Given the description of an element on the screen output the (x, y) to click on. 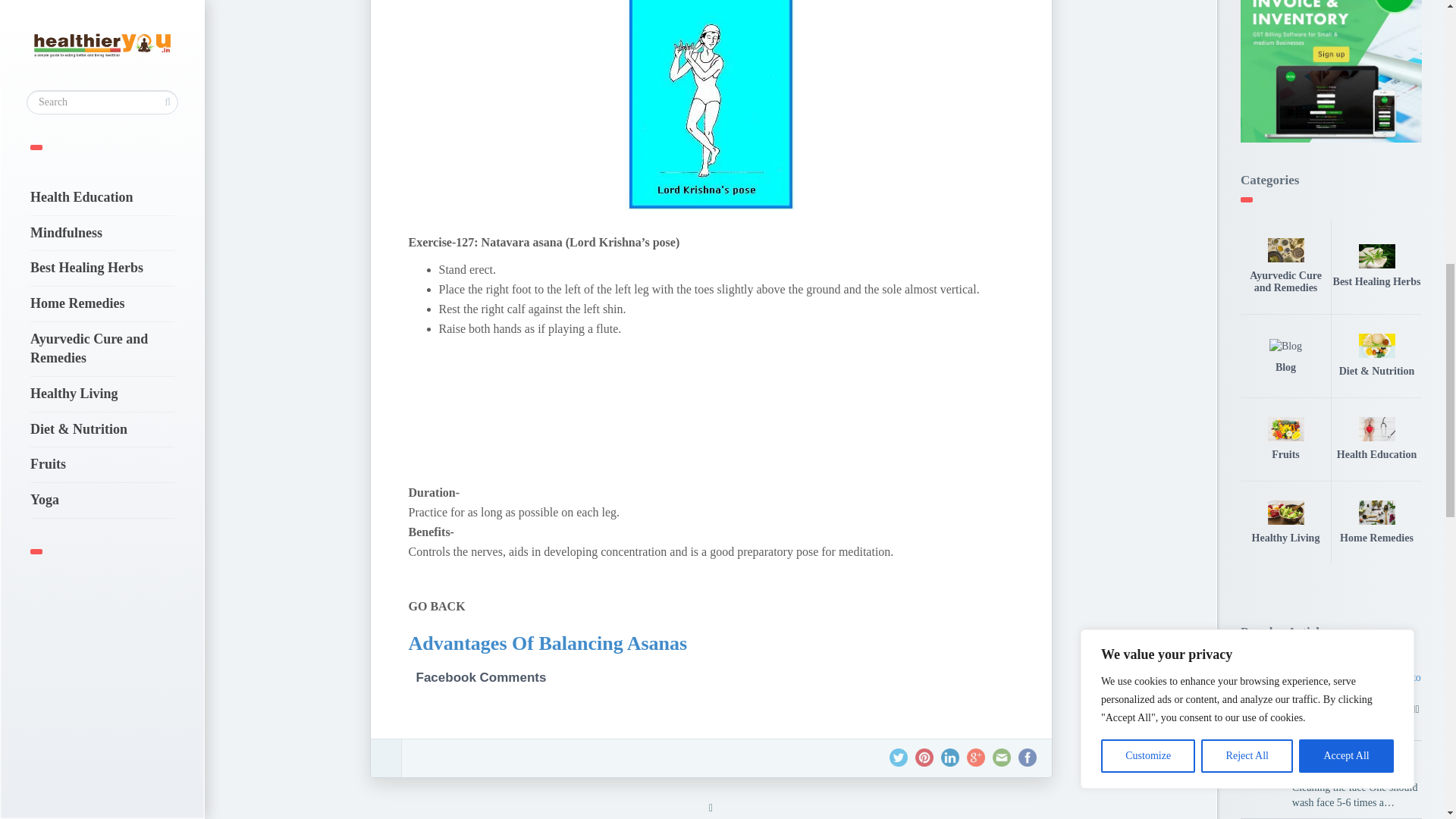
Twitter (897, 757)
Pinterest (923, 757)
Linkedin (949, 757)
